Given the description of an element on the screen output the (x, y) to click on. 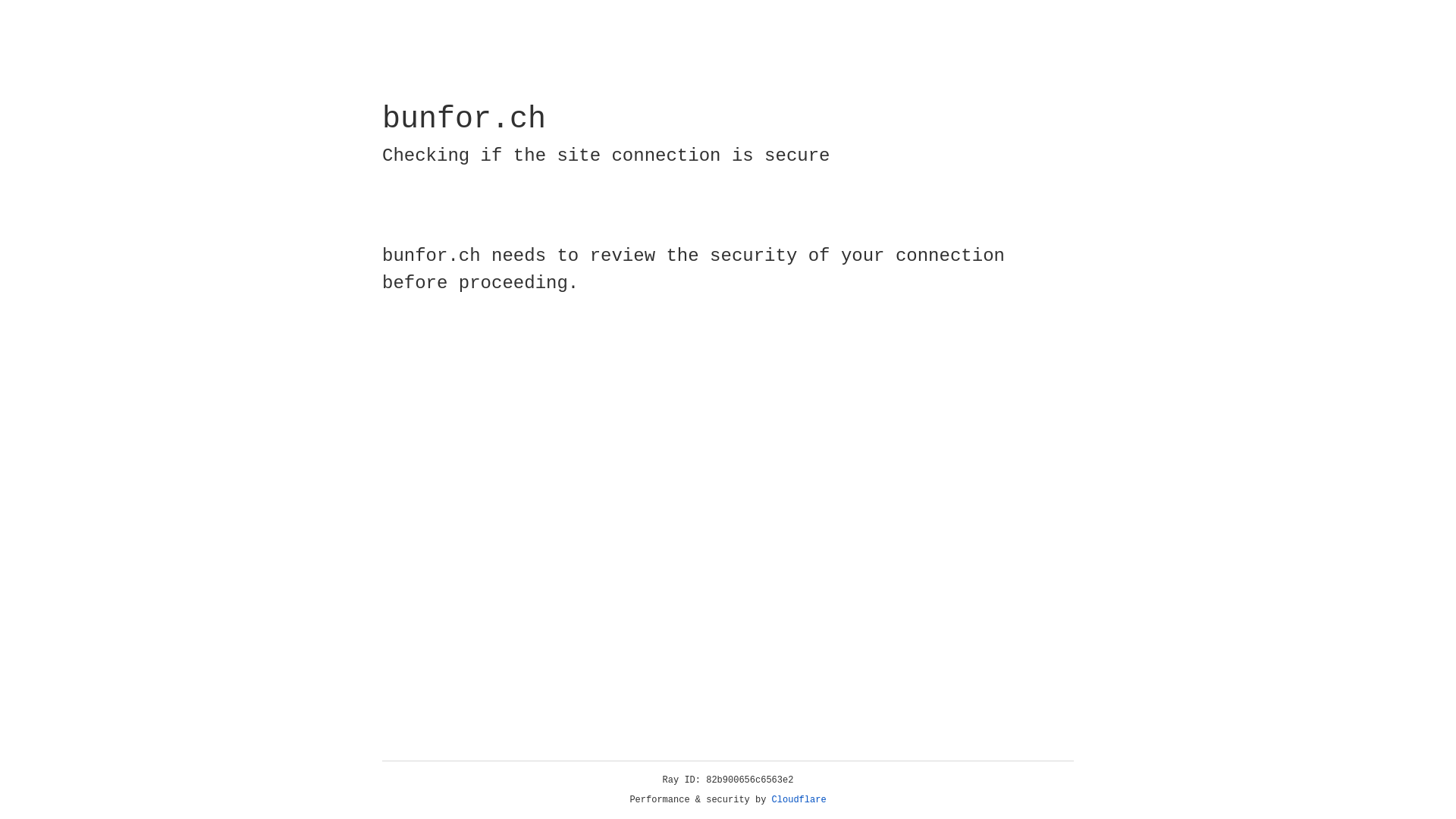
Cloudflare Element type: text (798, 799)
